Given the description of an element on the screen output the (x, y) to click on. 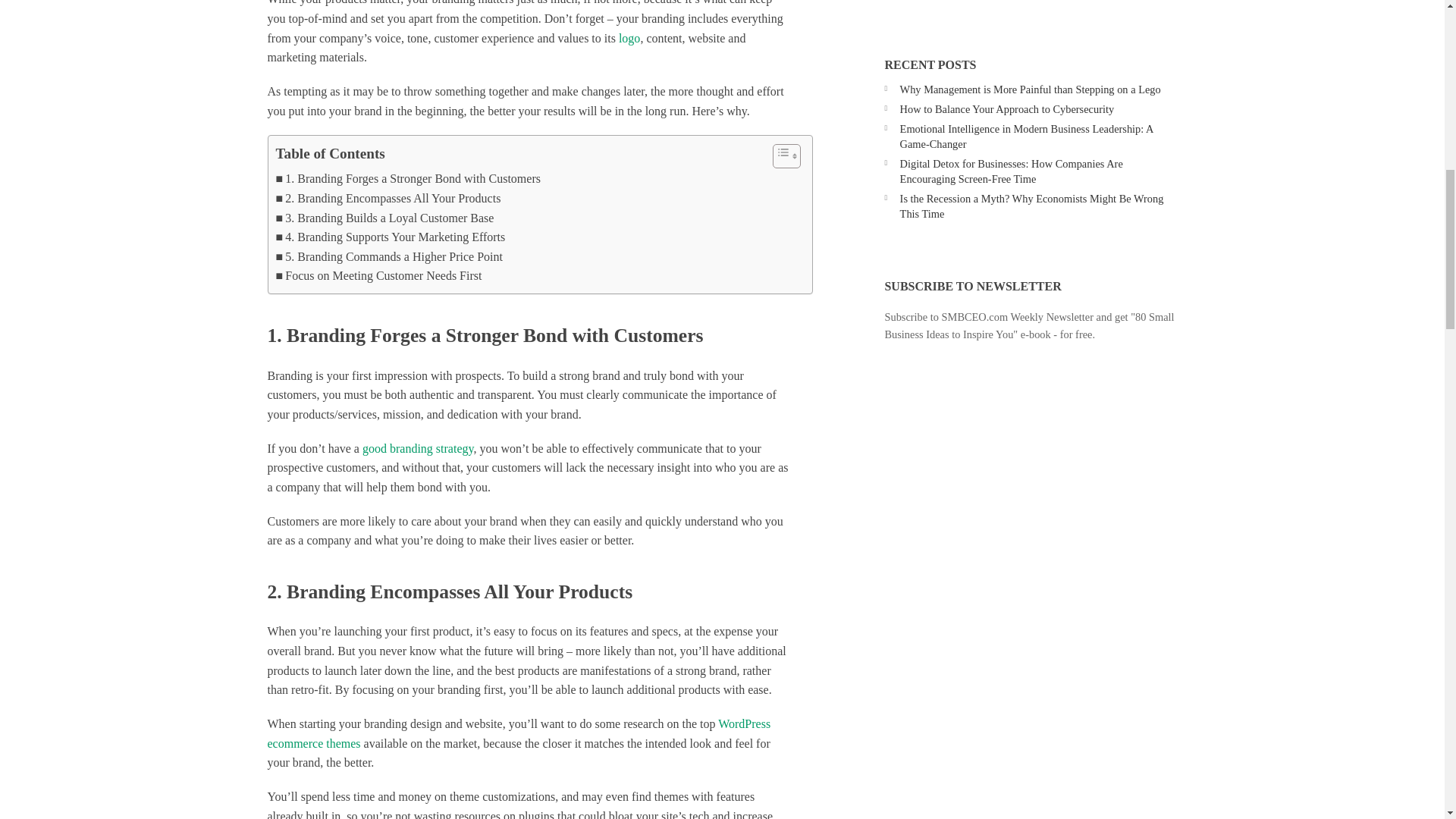
Focus on Meeting Customer Needs First (378, 275)
5. Branding Commands a Higher Price Point (389, 256)
good branding strategy (417, 448)
3. Branding Builds a Loyal Customer Base (385, 218)
2. Branding Encompasses All Your Products (388, 198)
4. Branding Supports Your Marketing Efforts (390, 237)
2. Branding Encompasses All Your Products (388, 198)
3. Branding Builds a Loyal Customer Base (385, 218)
logo (629, 38)
4. Branding Supports Your Marketing Efforts (390, 237)
